Given the description of an element on the screen output the (x, y) to click on. 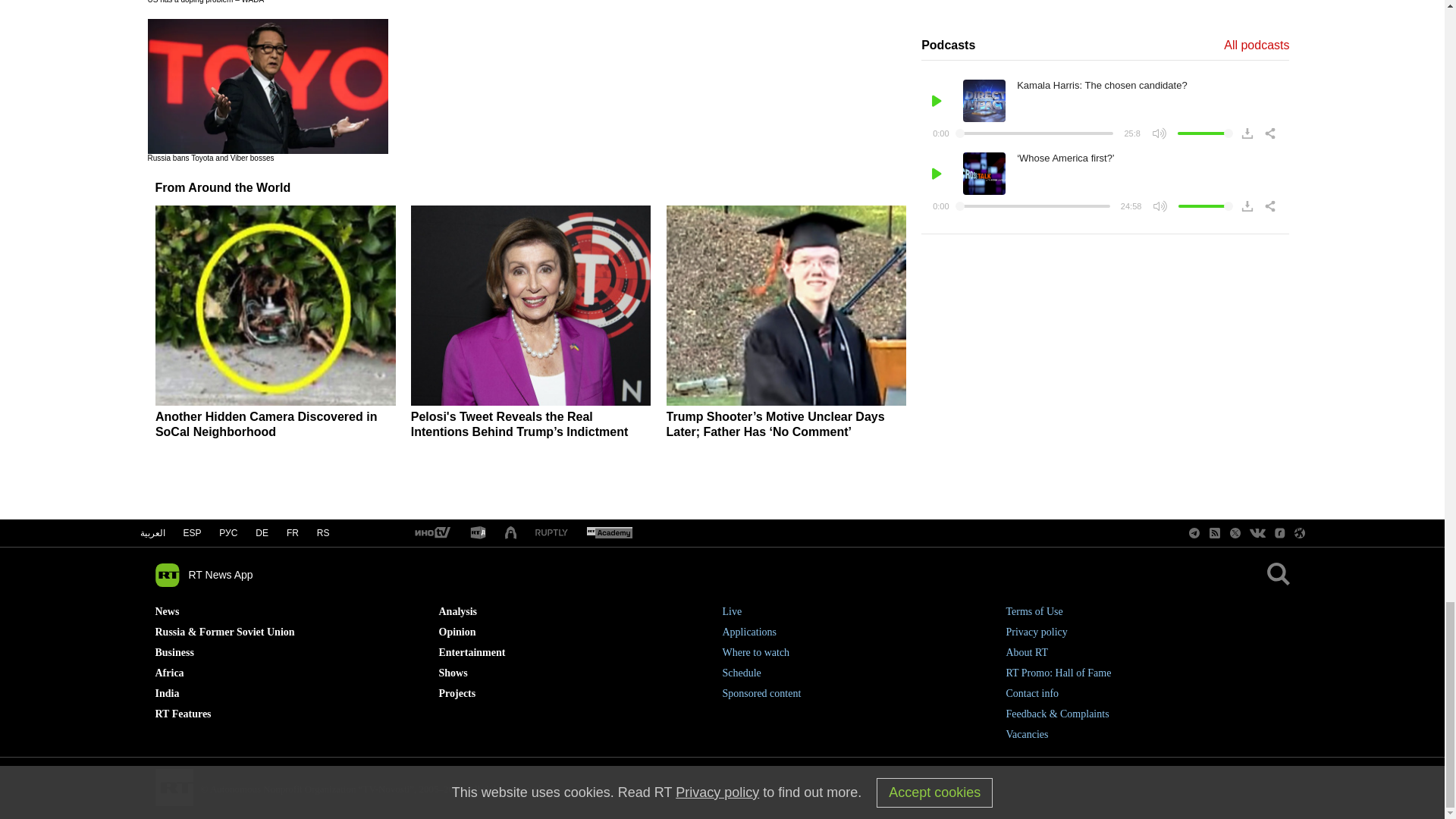
RT  (608, 533)
RT  (431, 533)
RT  (478, 533)
RT  (551, 533)
